Given the description of an element on the screen output the (x, y) to click on. 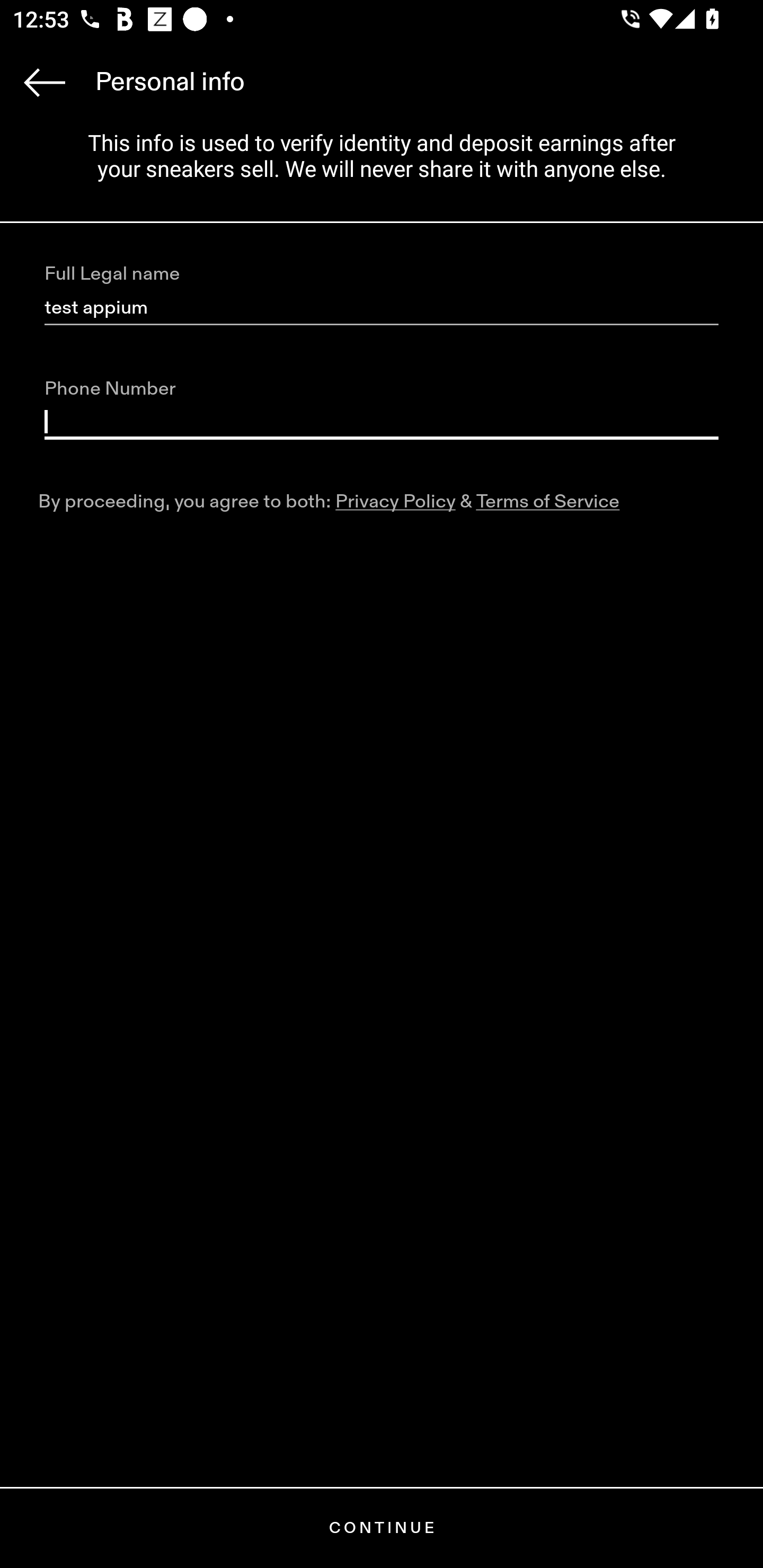
Navigate up (44, 82)
test appium (381, 308)
Phone Number (381, 422)
CONTINUE (381, 1528)
